Given the description of an element on the screen output the (x, y) to click on. 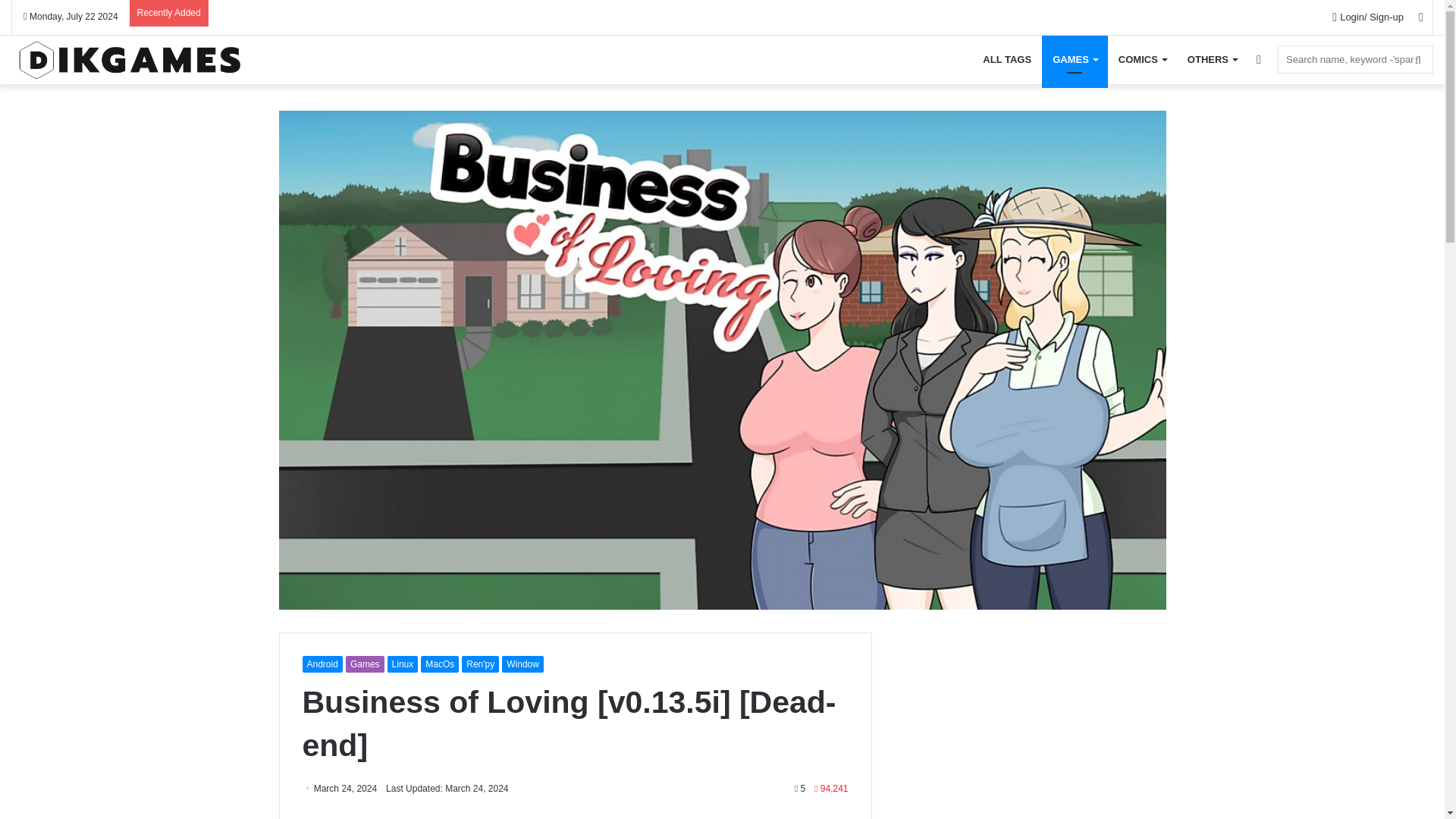
GAMES (1075, 59)
ALL TAGS (1007, 59)
COMICS (1142, 59)
Switch skin (1258, 59)
Dikgames (128, 58)
OTHERS (1211, 59)
Random Article (1420, 17)
Search name, keyword -'spanking' (1355, 59)
